Given the description of an element on the screen output the (x, y) to click on. 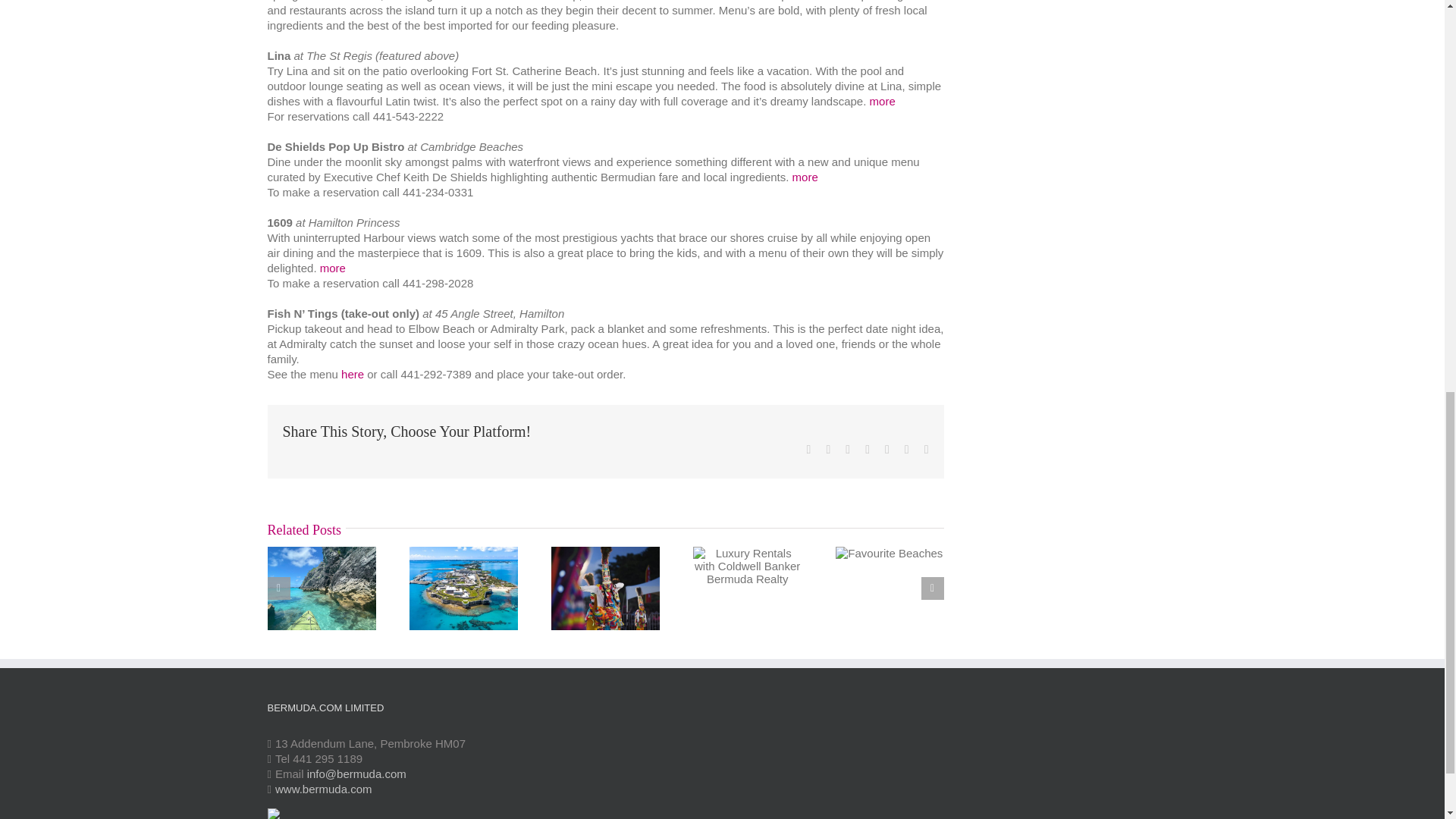
Email (926, 449)
Pinterest (906, 449)
LinkedIn (866, 449)
Twitter (827, 449)
Tumblr (887, 449)
Facebook (808, 449)
Reddit (847, 449)
